Given the description of an element on the screen output the (x, y) to click on. 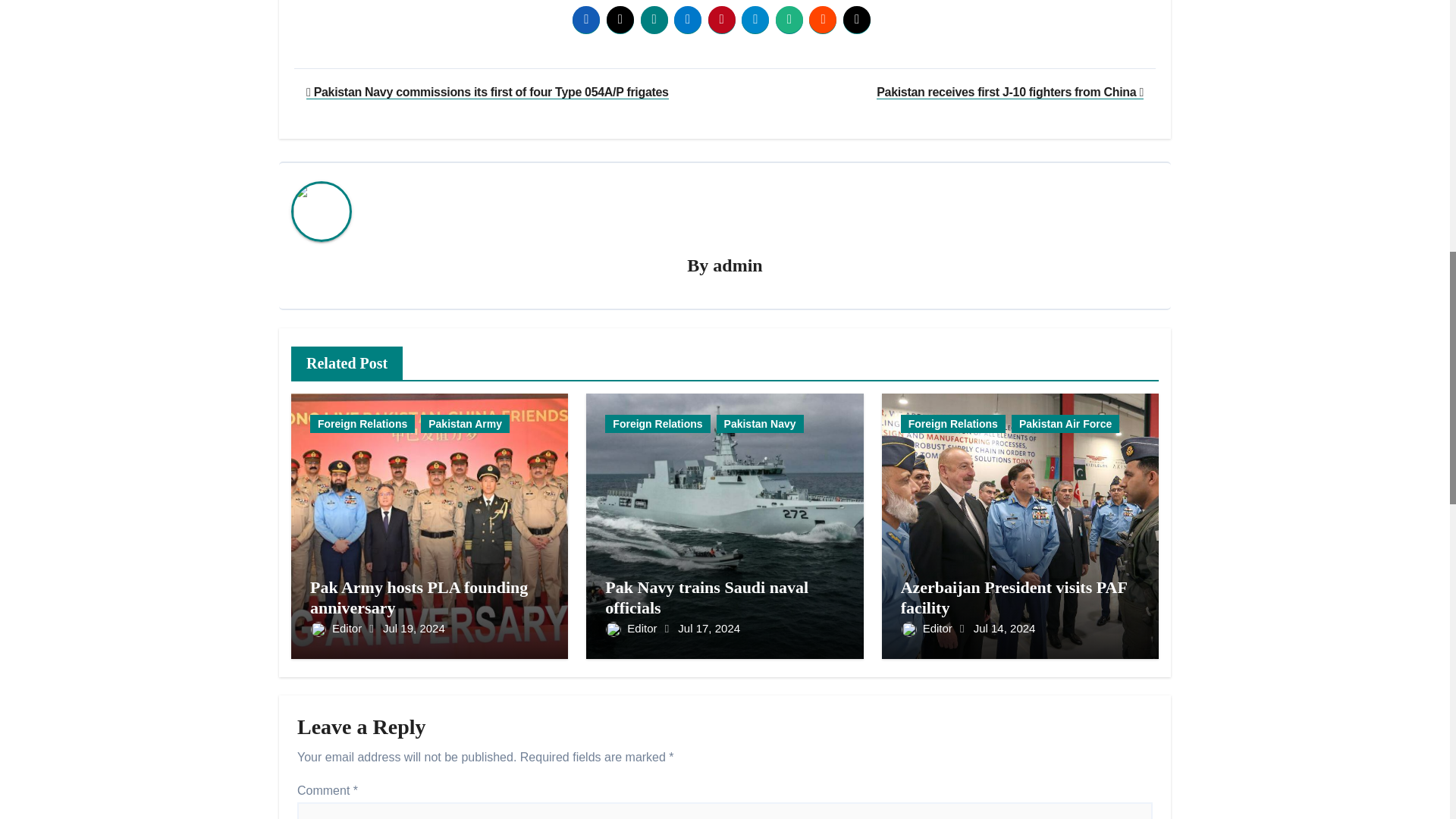
Permalink to: Azerbaijan President visits PAF facility (1013, 597)
Permalink to: Pak Navy trains Saudi naval officials (706, 597)
Permalink to: Pak Army hosts PLA founding anniversary (418, 597)
